Given the description of an element on the screen output the (x, y) to click on. 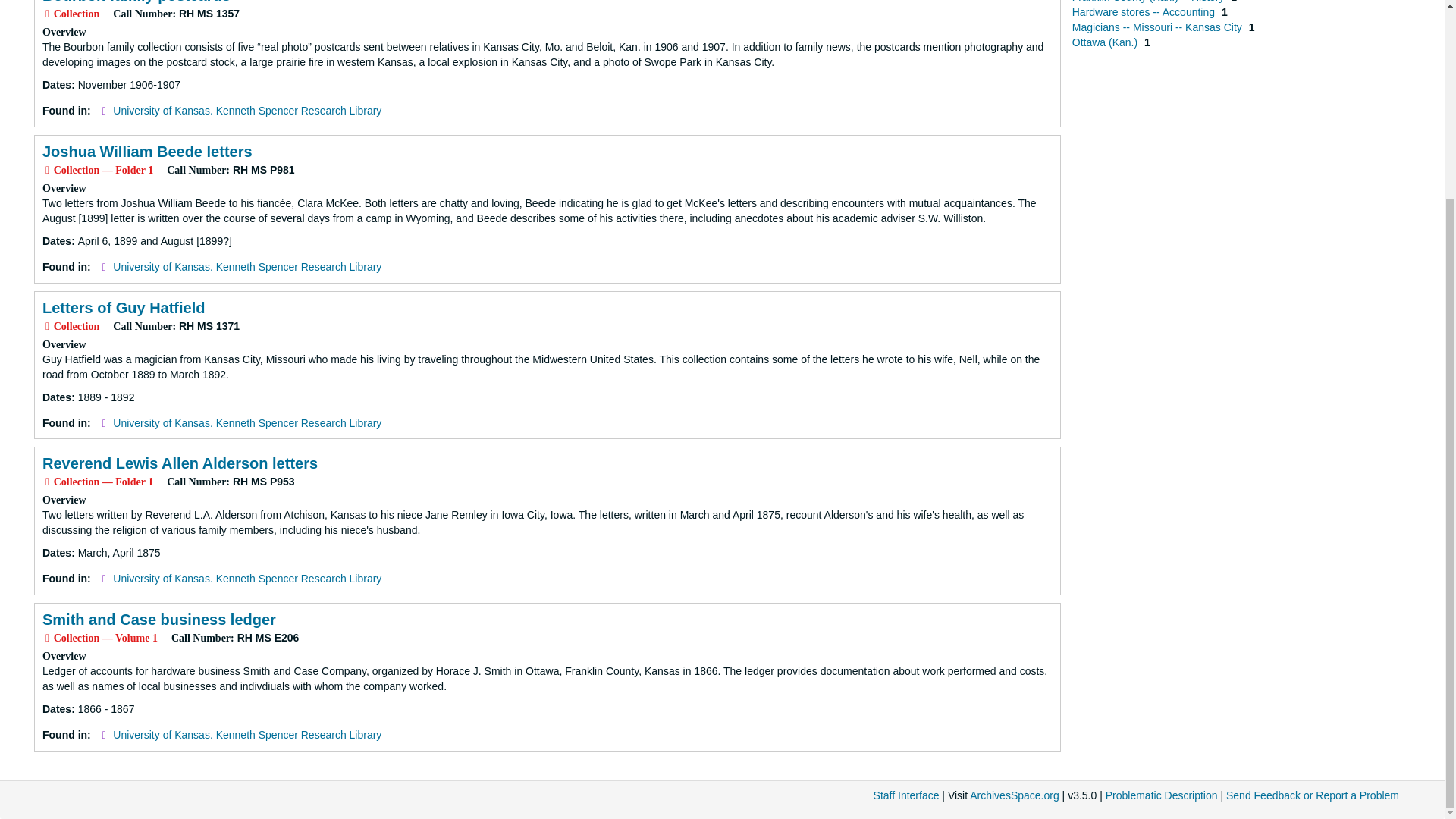
Problematic Description (1161, 795)
Hardware stores -- Accounting (1144, 11)
University of Kansas. Kenneth Spencer Research Library (247, 578)
ArchivesSpace.org (1014, 795)
Bourbon family postcards (136, 2)
Send Feedback or Report a Problem (1312, 795)
Filter By 'Magicians -- Missouri -- Kansas City' (1157, 27)
University of Kansas. Kenneth Spencer Research Library (247, 734)
University of Kansas. Kenneth Spencer Research Library (247, 266)
University of Kansas. Kenneth Spencer Research Library (247, 110)
Staff Interface (906, 795)
Reverend Lewis Allen Alderson letters (179, 463)
Letters of Guy Hatfield (123, 307)
Magicians -- Missouri -- Kansas City (1157, 27)
Joshua William Beede letters (146, 151)
